Given the description of an element on the screen output the (x, y) to click on. 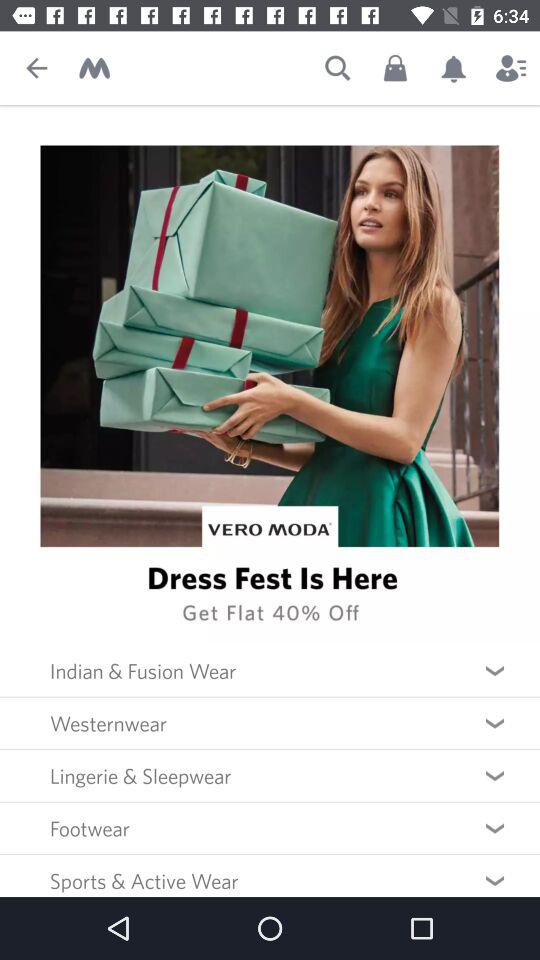
a magnifying glass symbol that is used for searching when pressed (337, 68)
